Given the description of an element on the screen output the (x, y) to click on. 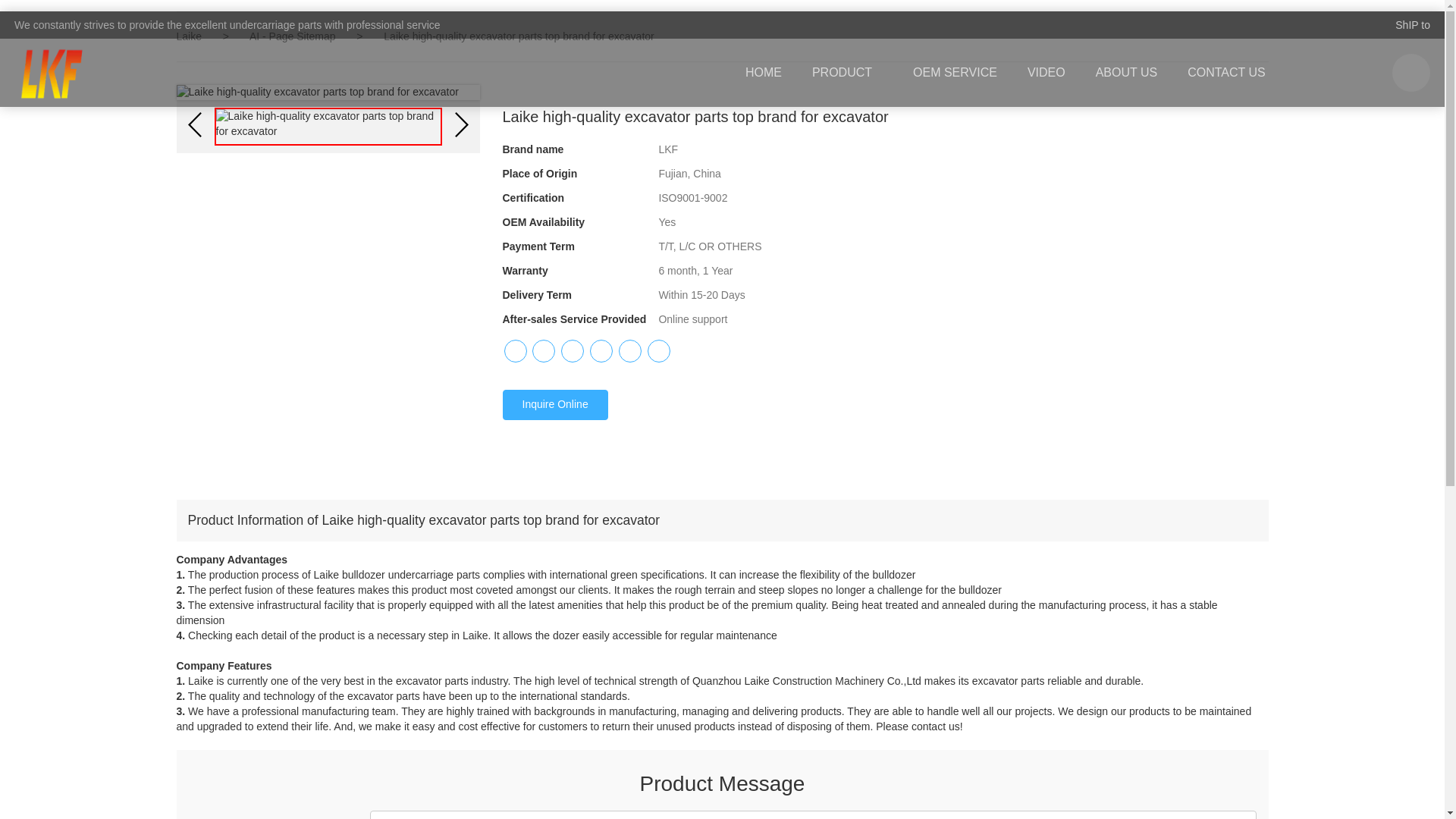
Laike (188, 36)
ABOUT US (1126, 72)
Inquire Online (554, 404)
CONTACT US (1226, 72)
HOME (763, 72)
OEM SERVICE (954, 72)
VIDEO (1045, 72)
AI - Page Sitemap (293, 36)
PRODUCT (847, 72)
